Given the description of an element on the screen output the (x, y) to click on. 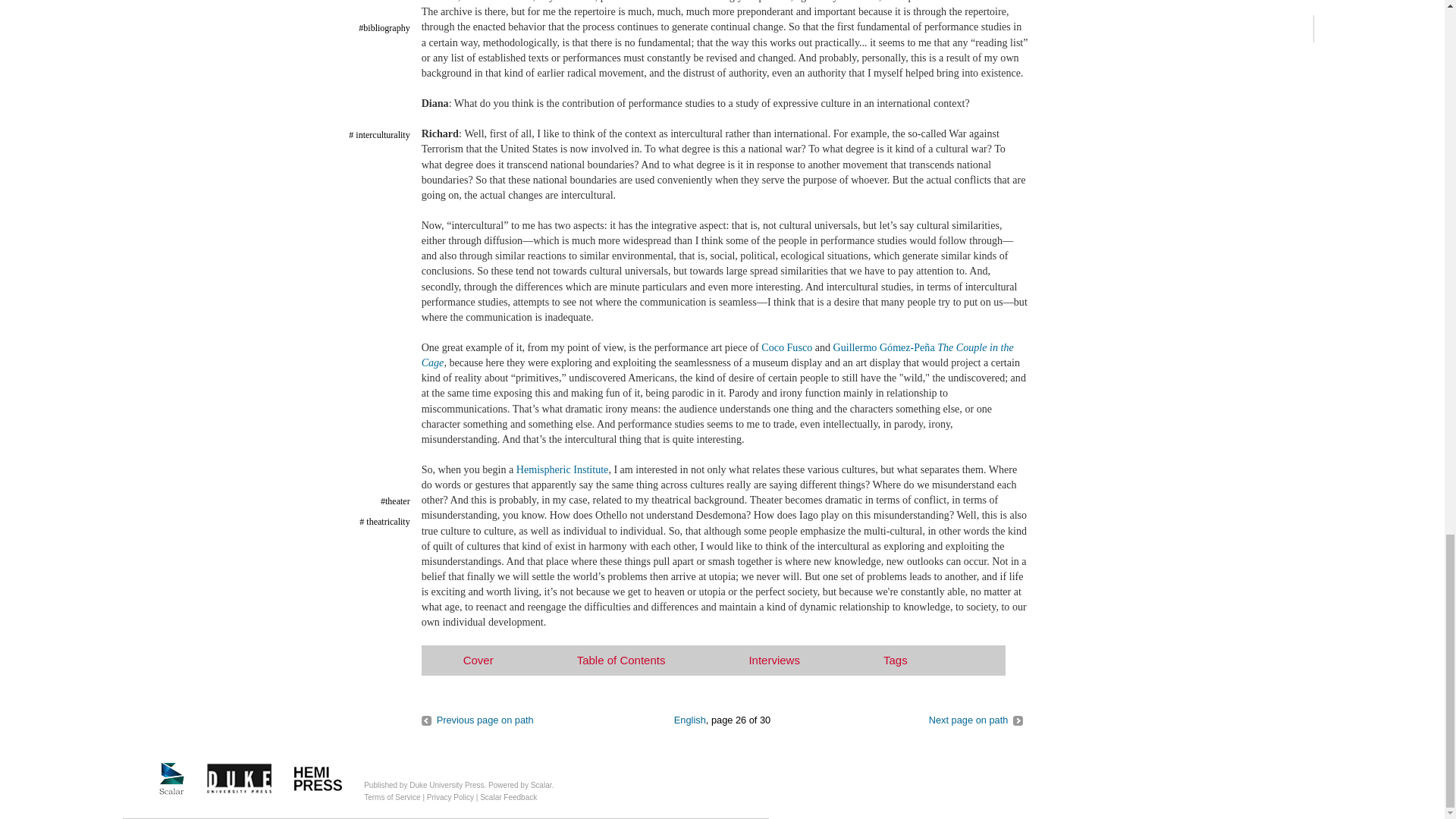
Rebecca Schneider (478, 719)
Javier Serna (975, 719)
videos-english (690, 719)
